Given the description of an element on the screen output the (x, y) to click on. 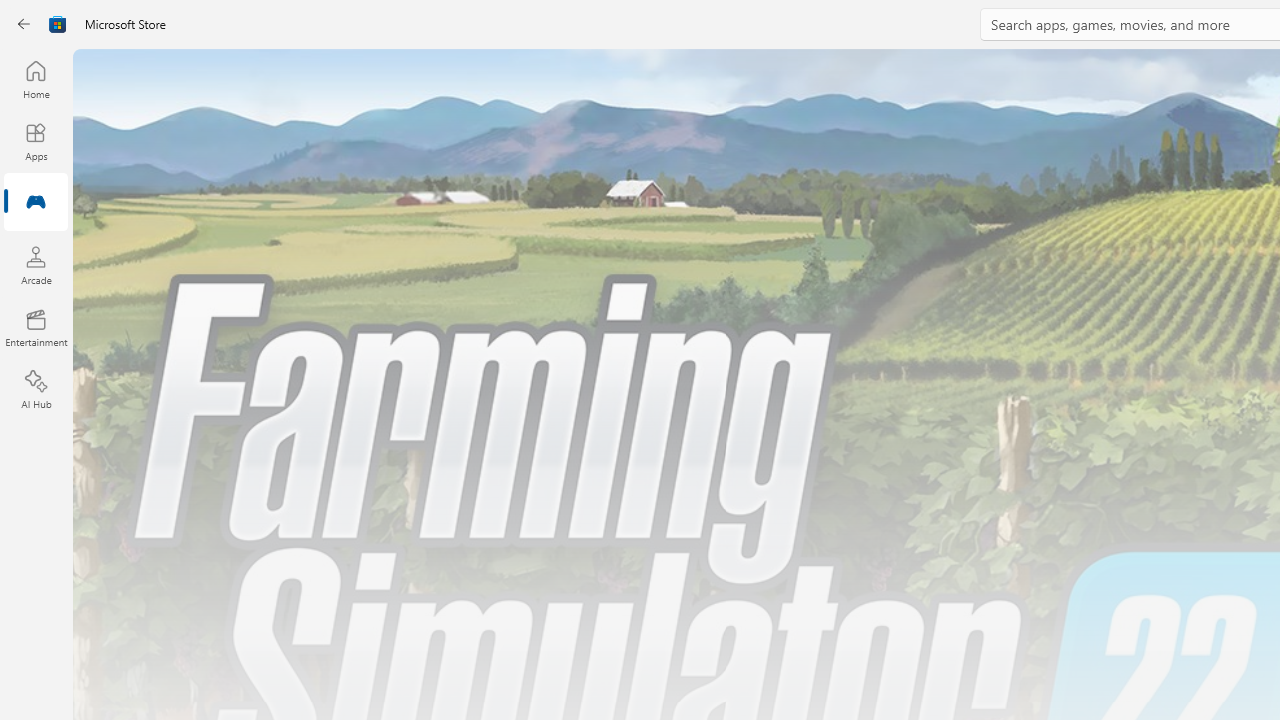
Back (24, 24)
